Given the description of an element on the screen output the (x, y) to click on. 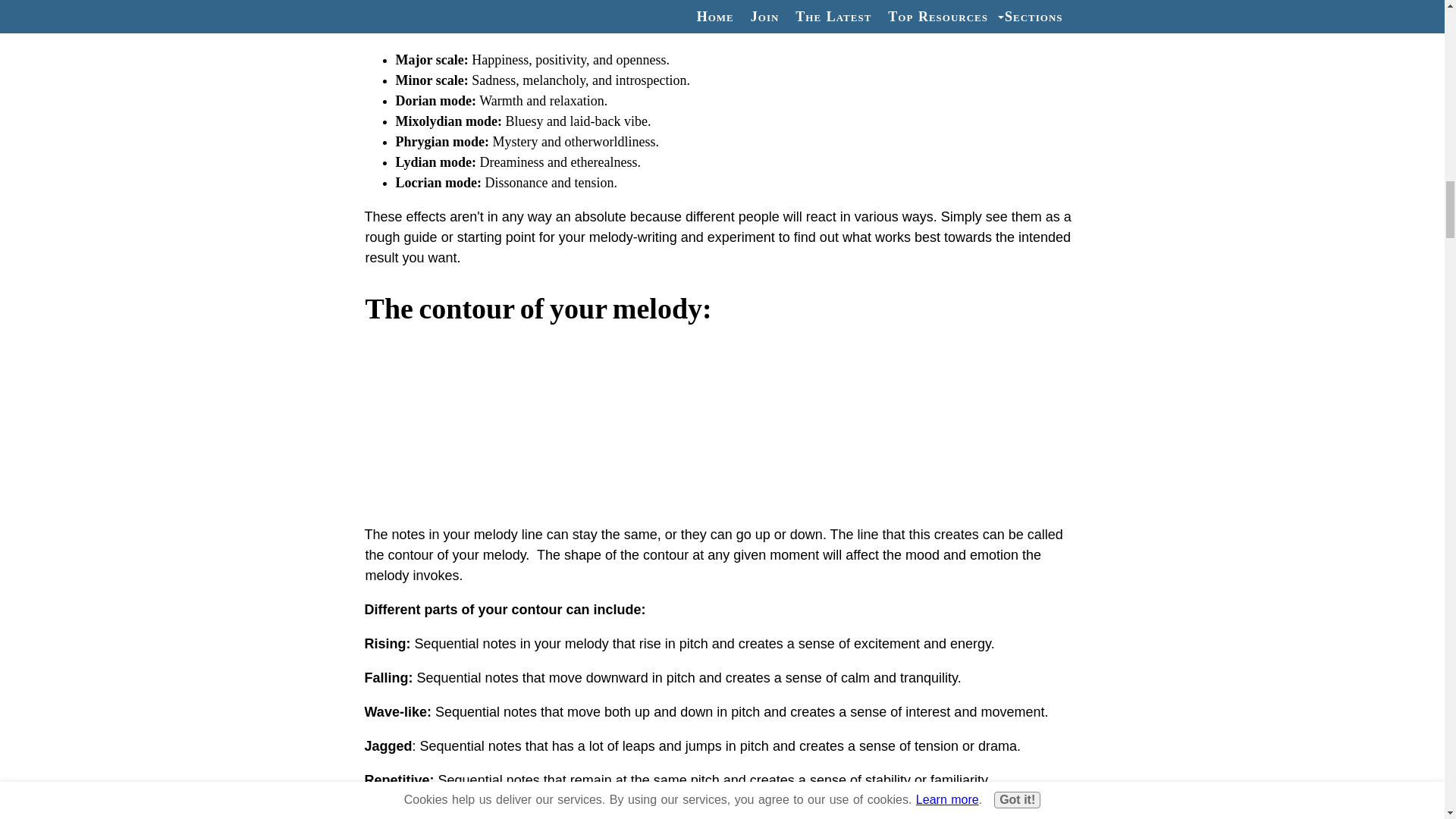
Image of mountain skyline - Text "Contour" (722, 423)
